Given the description of an element on the screen output the (x, y) to click on. 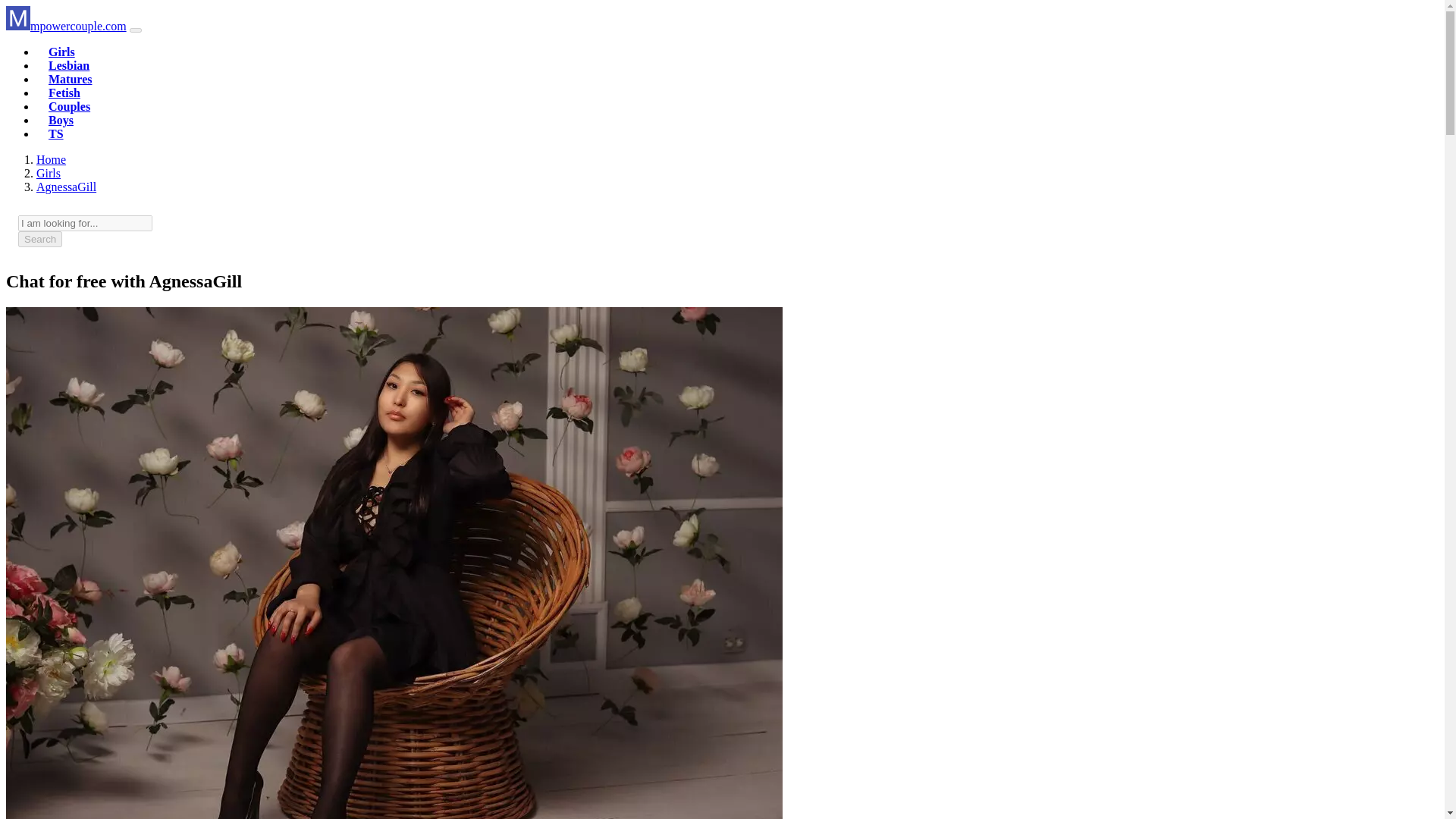
Girls (48, 173)
Home (50, 159)
Couples (69, 106)
Matures (69, 78)
TS (56, 133)
Boys (61, 119)
Lesbian (68, 65)
Fetish (64, 92)
Fetish (64, 92)
Girls (48, 173)
mpowercouple.com (65, 25)
Live Sex Chat with AgnessaGill - 21 years old cam Girls (66, 186)
Girls (61, 51)
AgnessaGill (66, 186)
TS (56, 133)
